Given the description of an element on the screen output the (x, y) to click on. 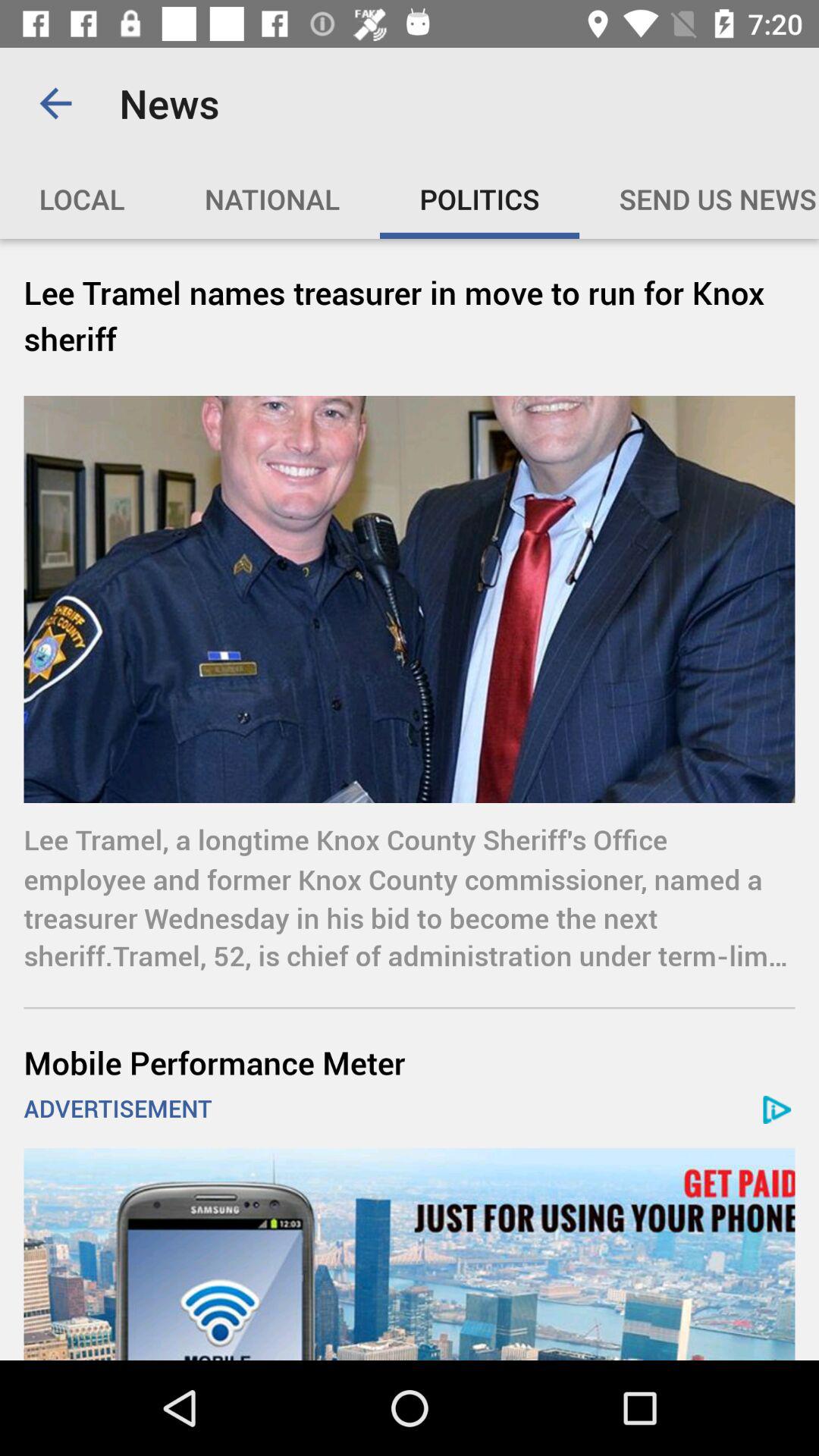
advertising banner button (409, 1254)
